Given the description of an element on the screen output the (x, y) to click on. 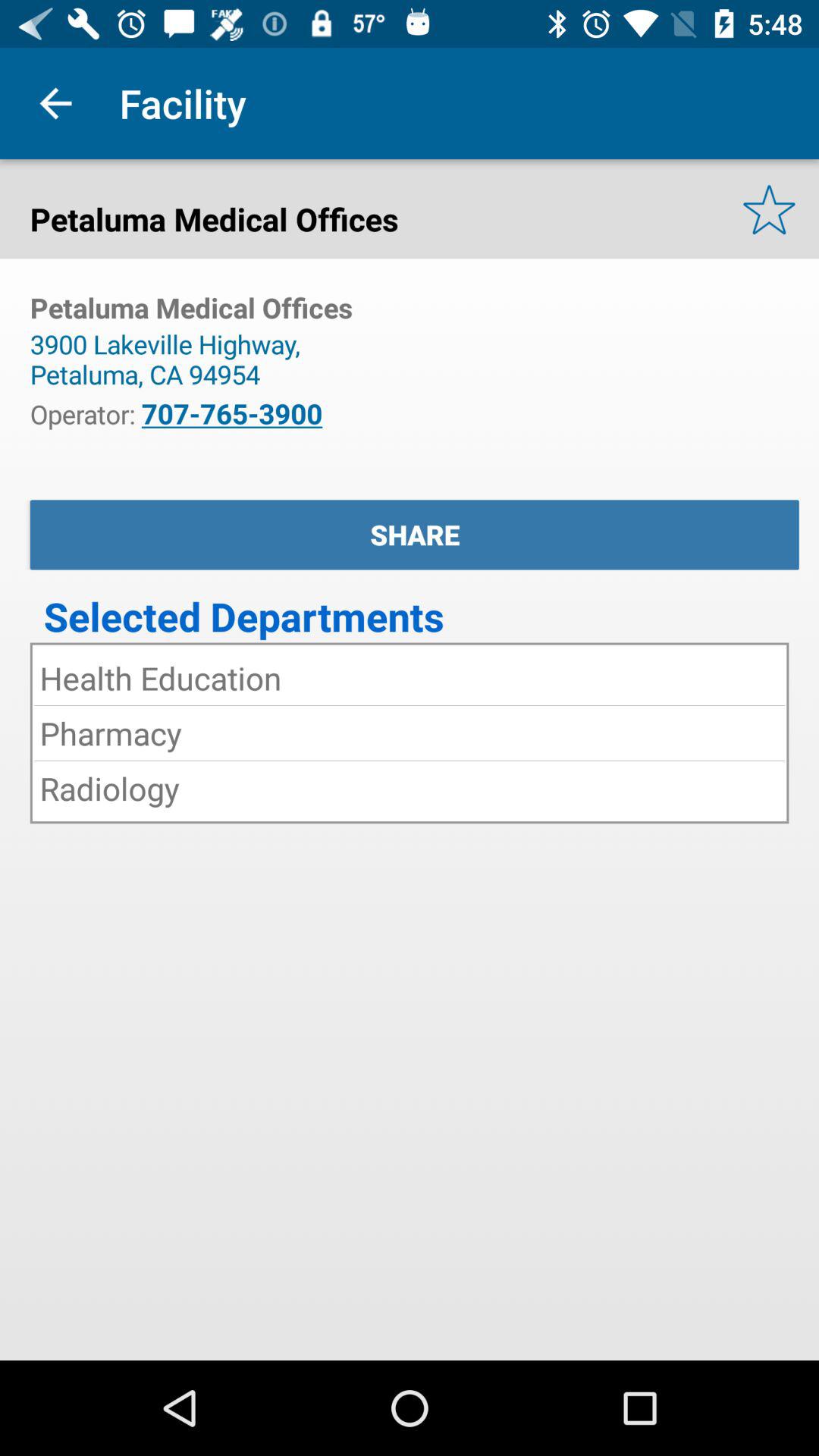
select item next to facility app (55, 103)
